Given the description of an element on the screen output the (x, y) to click on. 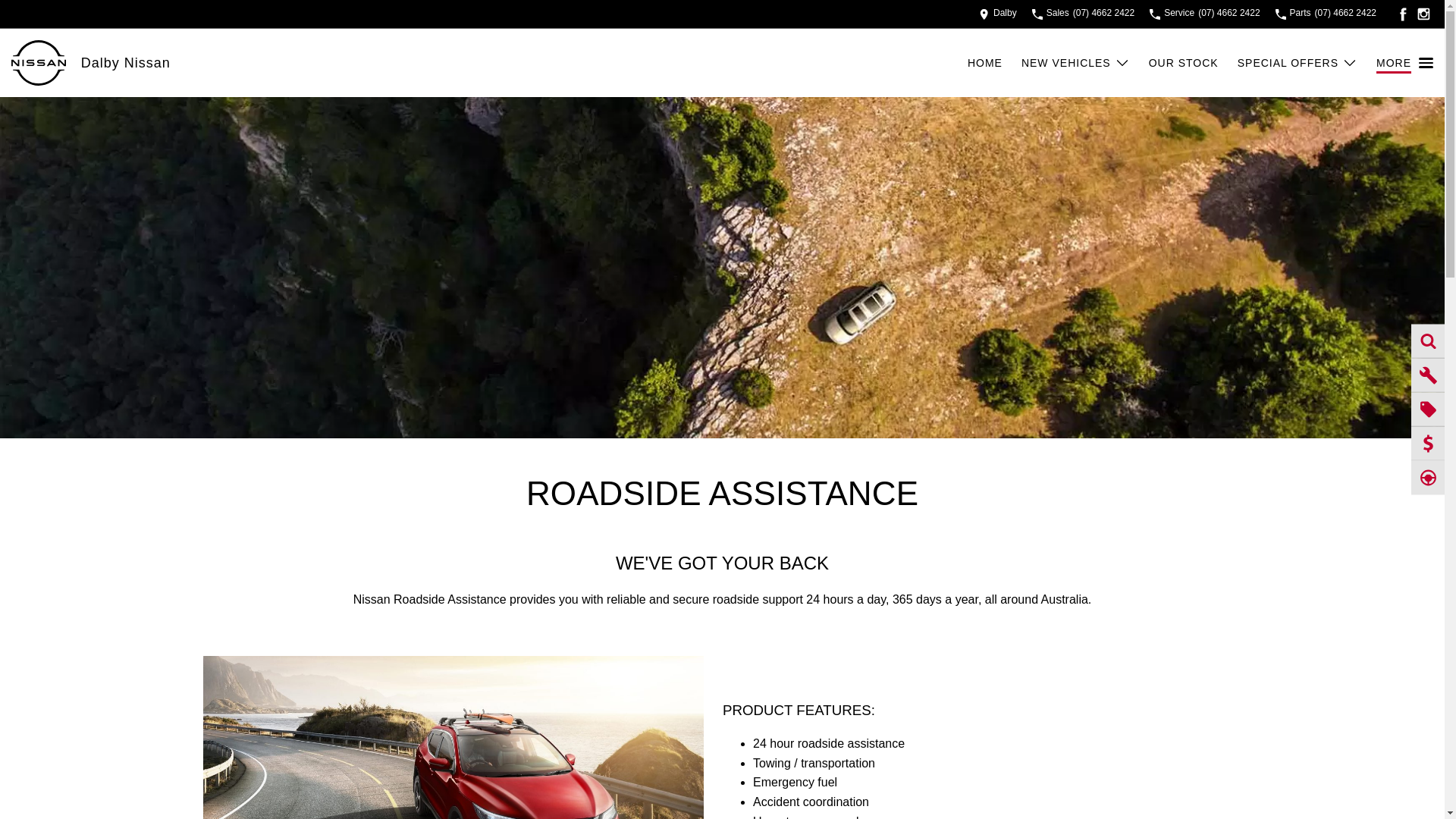
NEW VEHICLES Element type: text (1075, 62)
Service
(07) 4662 2422 Element type: text (1204, 13)
HOME Element type: text (994, 62)
Dalby Element type: text (997, 13)
Dalby Nissan Element type: text (125, 62)
OUR STOCK Element type: text (1192, 62)
Parts
(07) 4662 2422 Element type: text (1325, 13)
Sales
(07) 4662 2422 Element type: text (1083, 13)
SPECIAL OFFERS Element type: text (1297, 62)
MORE Element type: text (1404, 62)
